Given the description of an element on the screen output the (x, y) to click on. 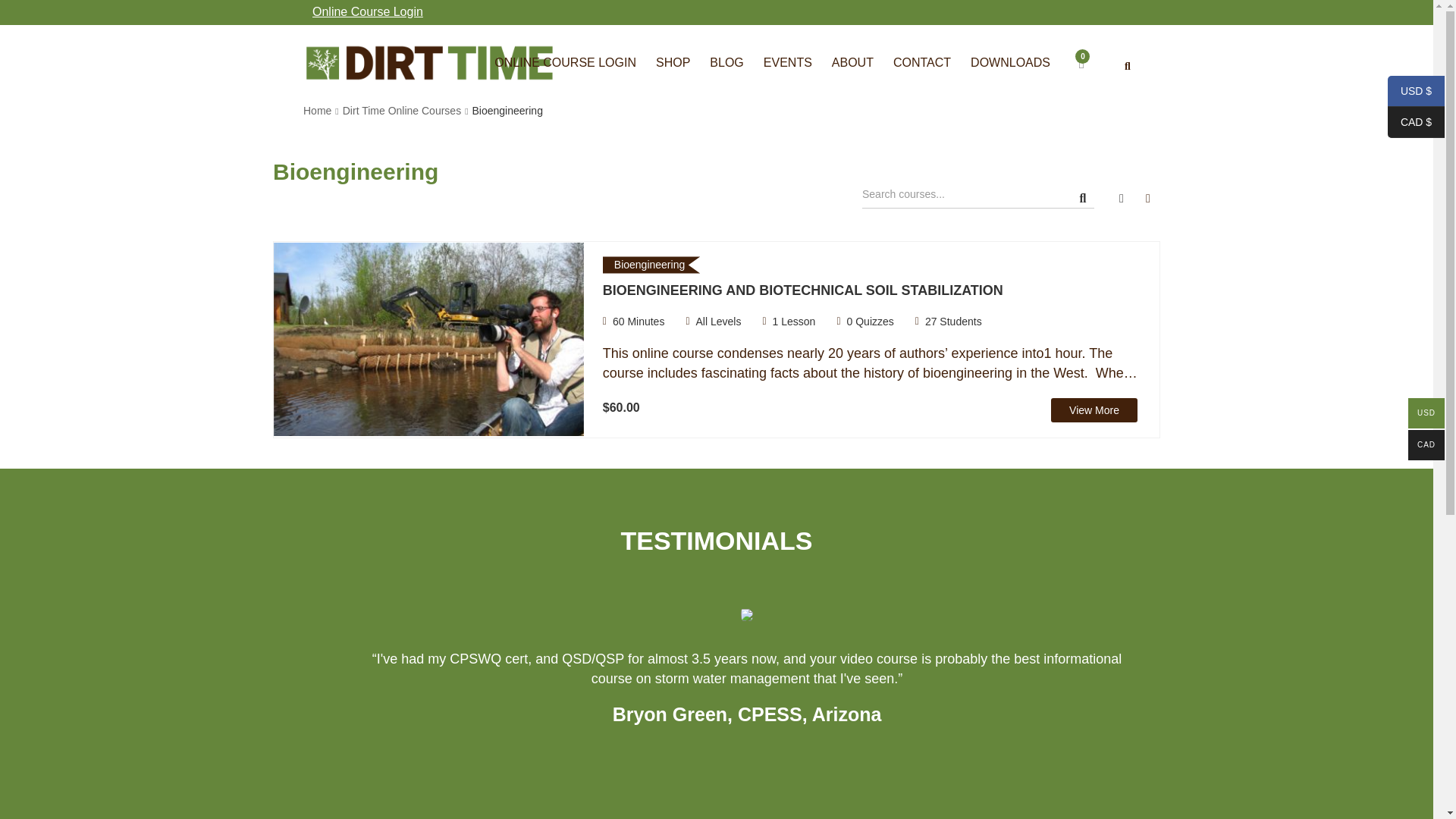
Switch to grid (1121, 198)
CONTACT (921, 62)
Online Course Login (367, 11)
EVENTS (788, 62)
DOWNLOADS (1009, 62)
Switch to list (1147, 198)
ONLINE COURSE LOGIN (565, 62)
Bioengineering and Biotechnical Soil Stabilization (428, 338)
